Given the description of an element on the screen output the (x, y) to click on. 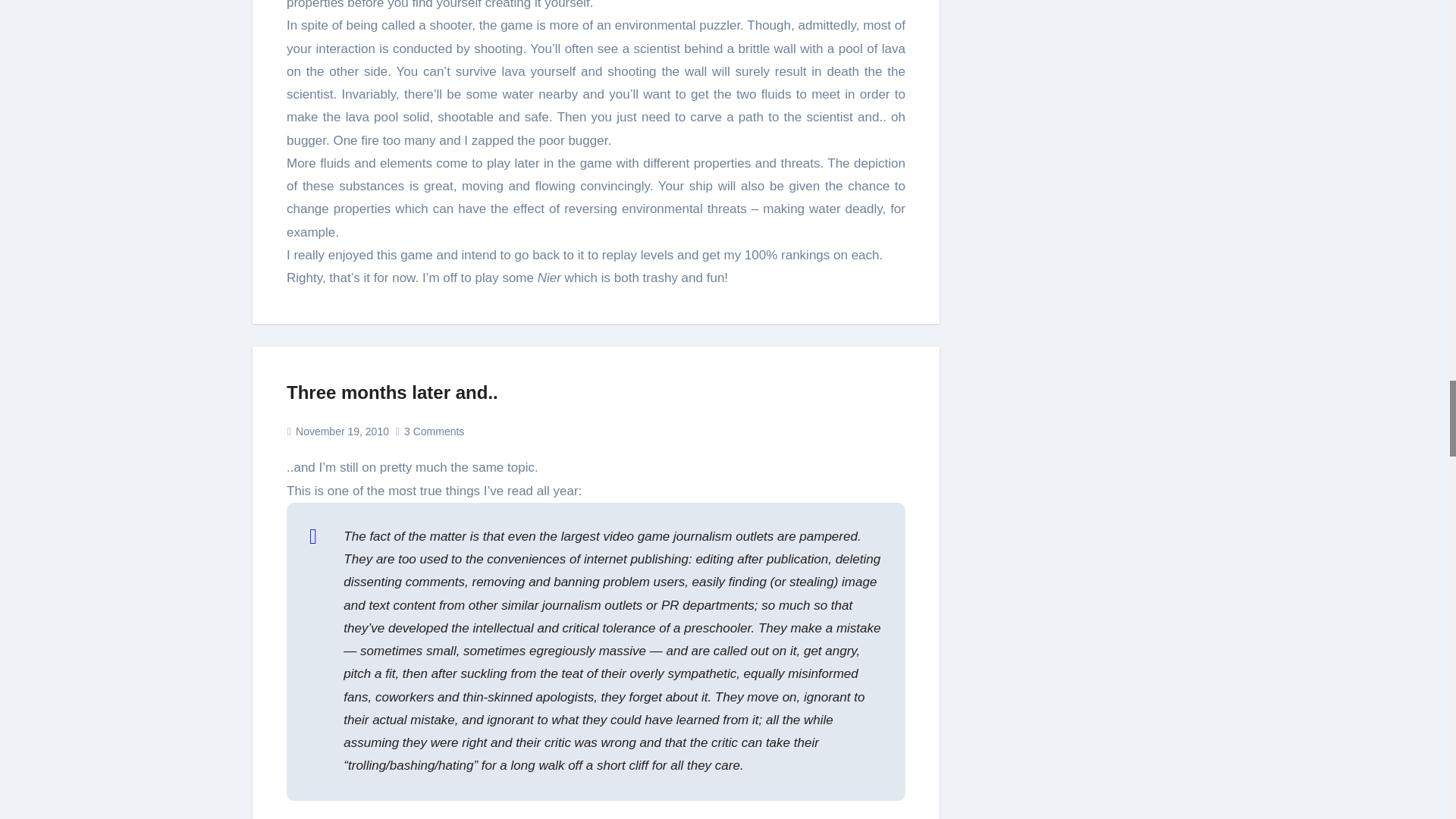
3 Comments (434, 430)
Source (306, 817)
November 19, 2010 (341, 430)
Three months later and.. (391, 392)
